Given the description of an element on the screen output the (x, y) to click on. 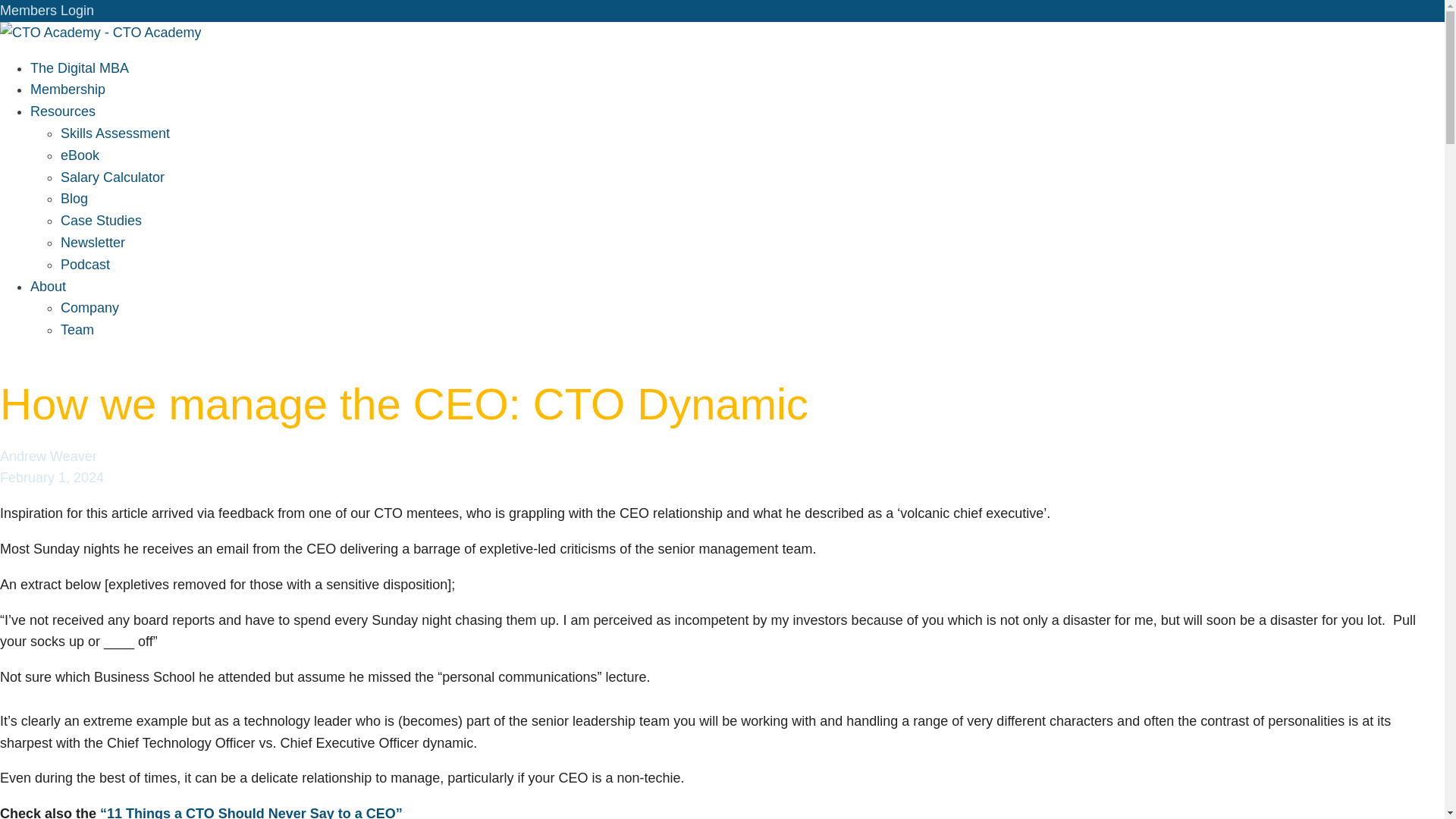
The Digital MBA (79, 68)
Company (90, 307)
Salary Calculator (112, 177)
Blog (74, 198)
About (47, 286)
Team (77, 329)
Podcast (85, 264)
Membership (67, 89)
Newsletter (93, 242)
CTO Academy (100, 32)
eBook (80, 155)
Skills Assessment (115, 133)
Resources (63, 111)
Case Studies (101, 220)
Members Login (47, 10)
